Given the description of an element on the screen output the (x, y) to click on. 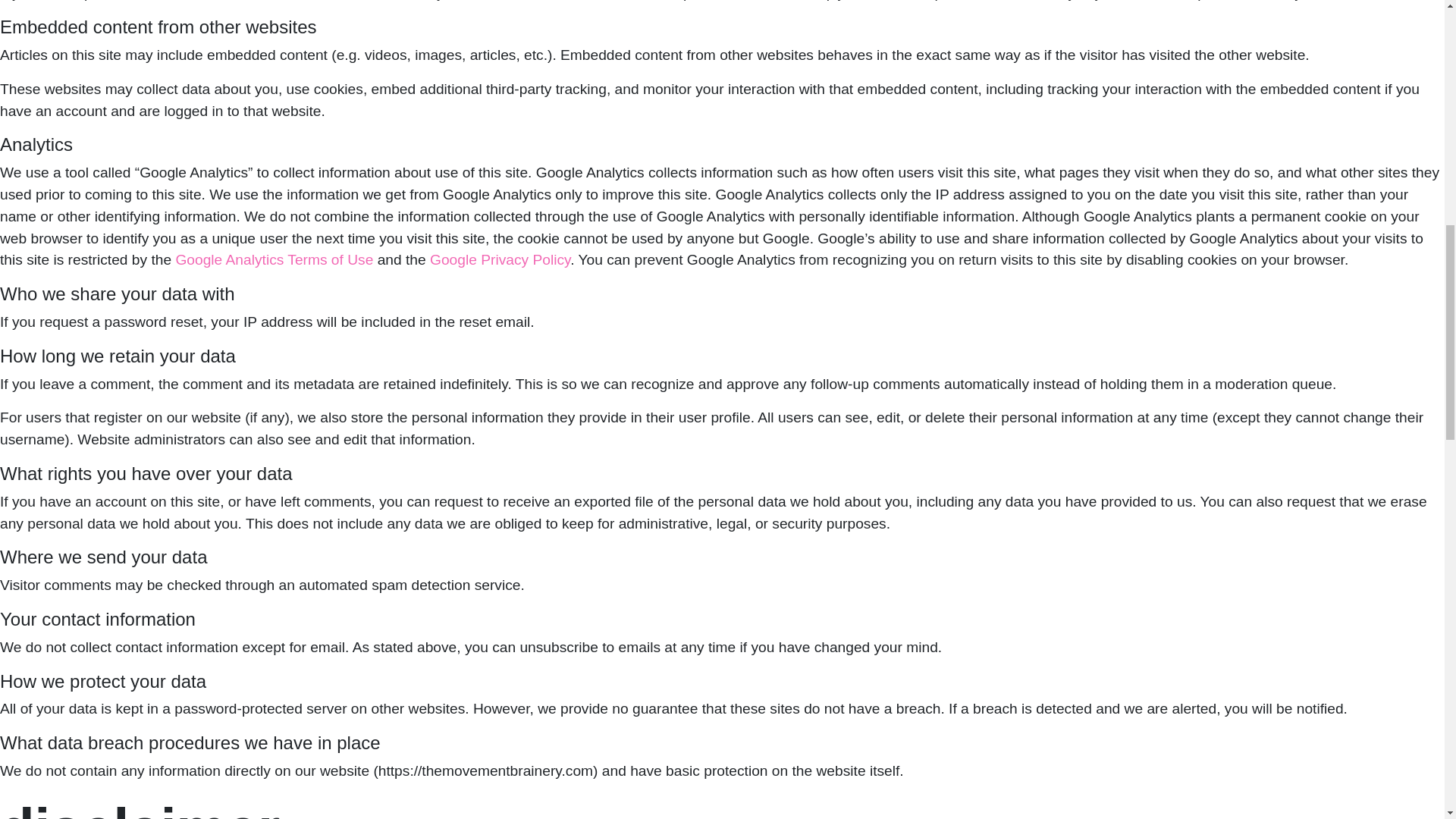
Google Analytics Terms of Use (273, 259)
Google Privacy Policy (499, 259)
